Given the description of an element on the screen output the (x, y) to click on. 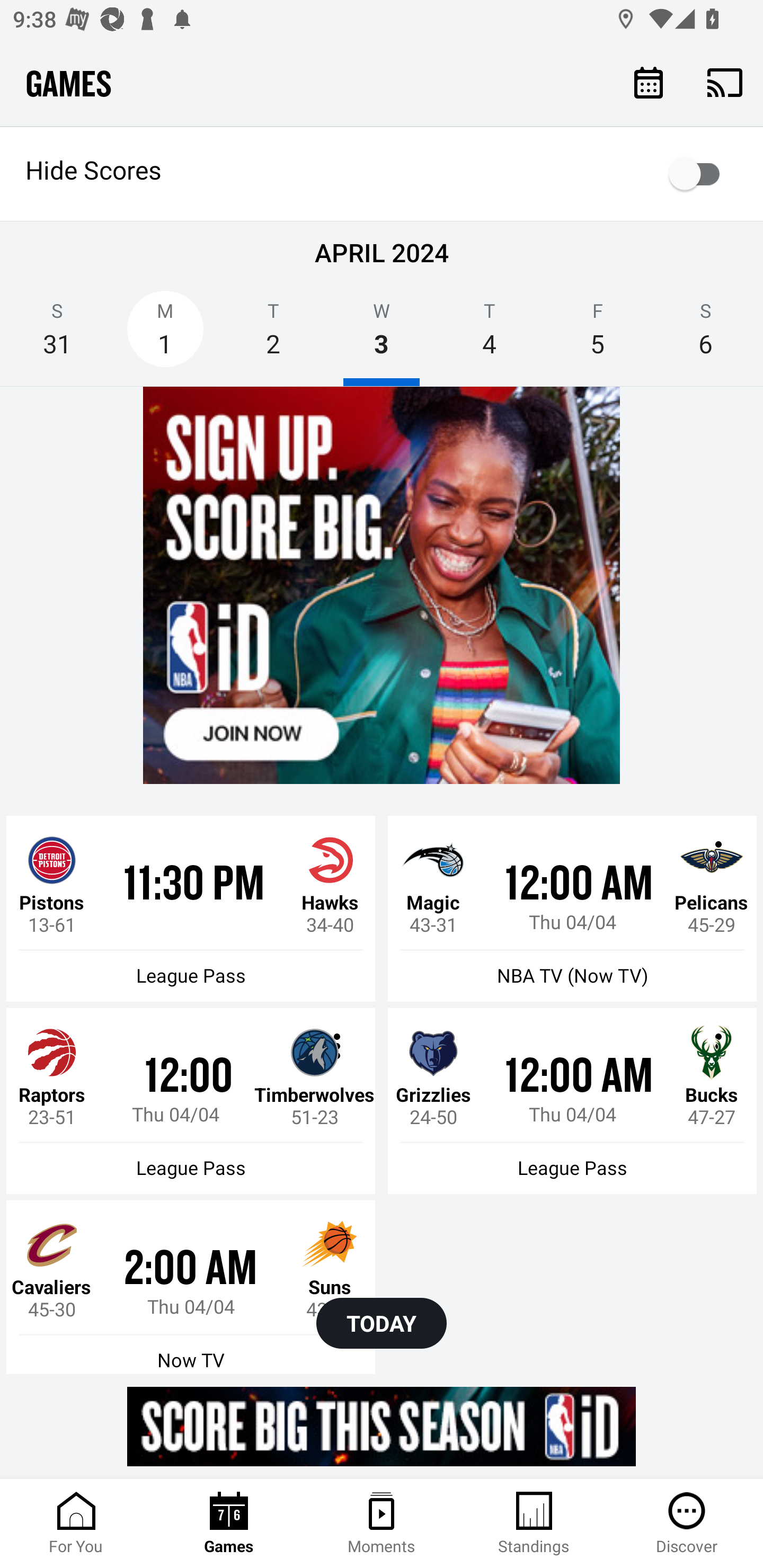
Cast. Disconnected (724, 82)
Calendar (648, 81)
Hide Scores (381, 174)
S 31 (57, 334)
M 1 (165, 334)
T 2 (273, 334)
W 3 (381, 334)
T 4 (489, 334)
F 5 (597, 334)
S 6 (705, 334)
g5nqqygr7owph (381, 585)
Pistons 13-61 11:30 PM Hawks 34-40 League Pass (190, 908)
TODAY (381, 1323)
g5nqqygr7owph (381, 1426)
For You (76, 1523)
Moments (381, 1523)
Standings (533, 1523)
Discover (686, 1523)
